Given the description of an element on the screen output the (x, y) to click on. 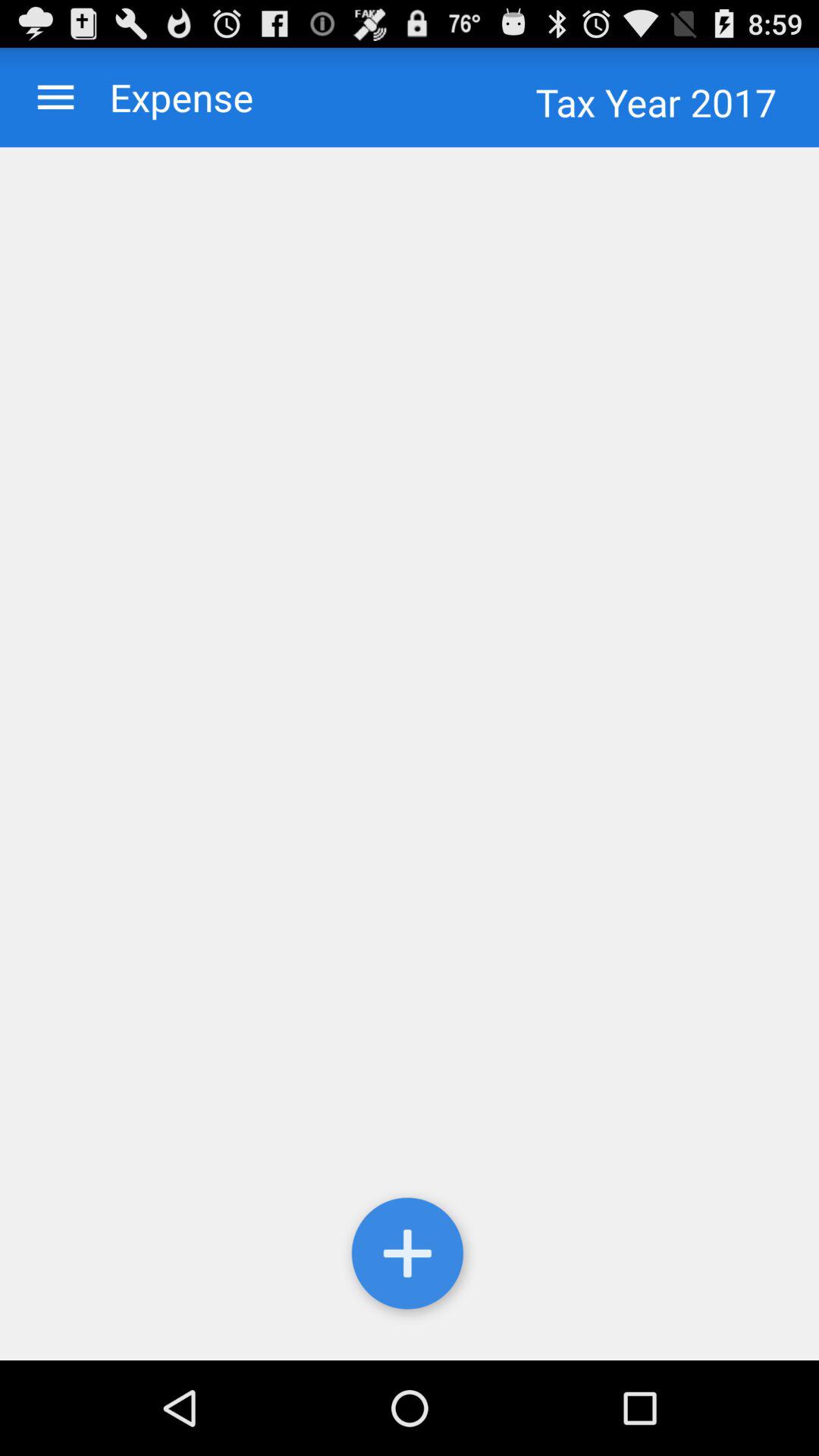
tap icon at the center (409, 753)
